Given the description of an element on the screen output the (x, y) to click on. 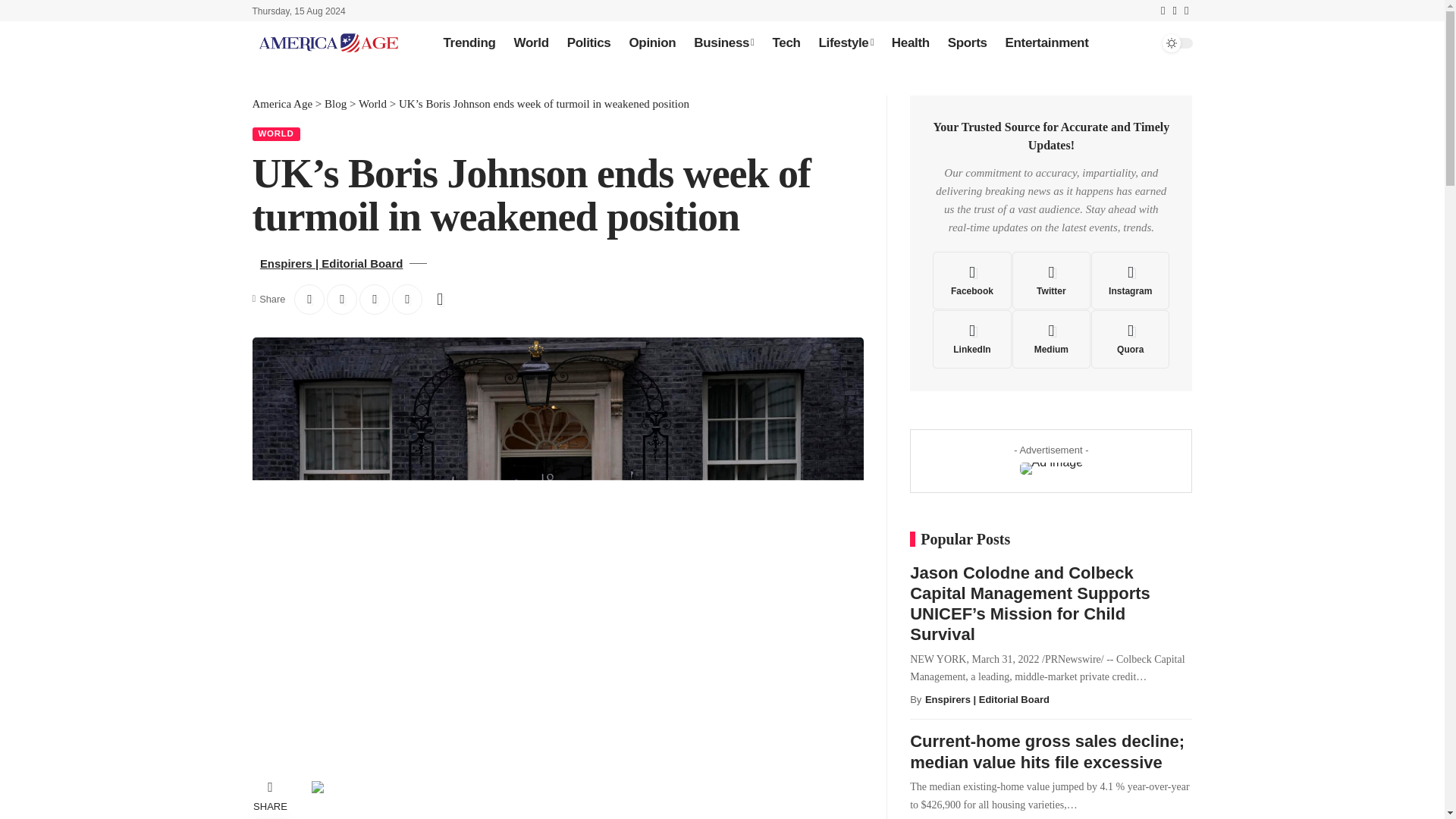
Business (723, 42)
Sports (967, 42)
Tech (785, 42)
World (531, 42)
Lifestyle (845, 42)
Go to America Age. (282, 102)
Health (910, 42)
Trending (468, 42)
Entertainment (1046, 42)
Go to Blog. (335, 102)
